Given the description of an element on the screen output the (x, y) to click on. 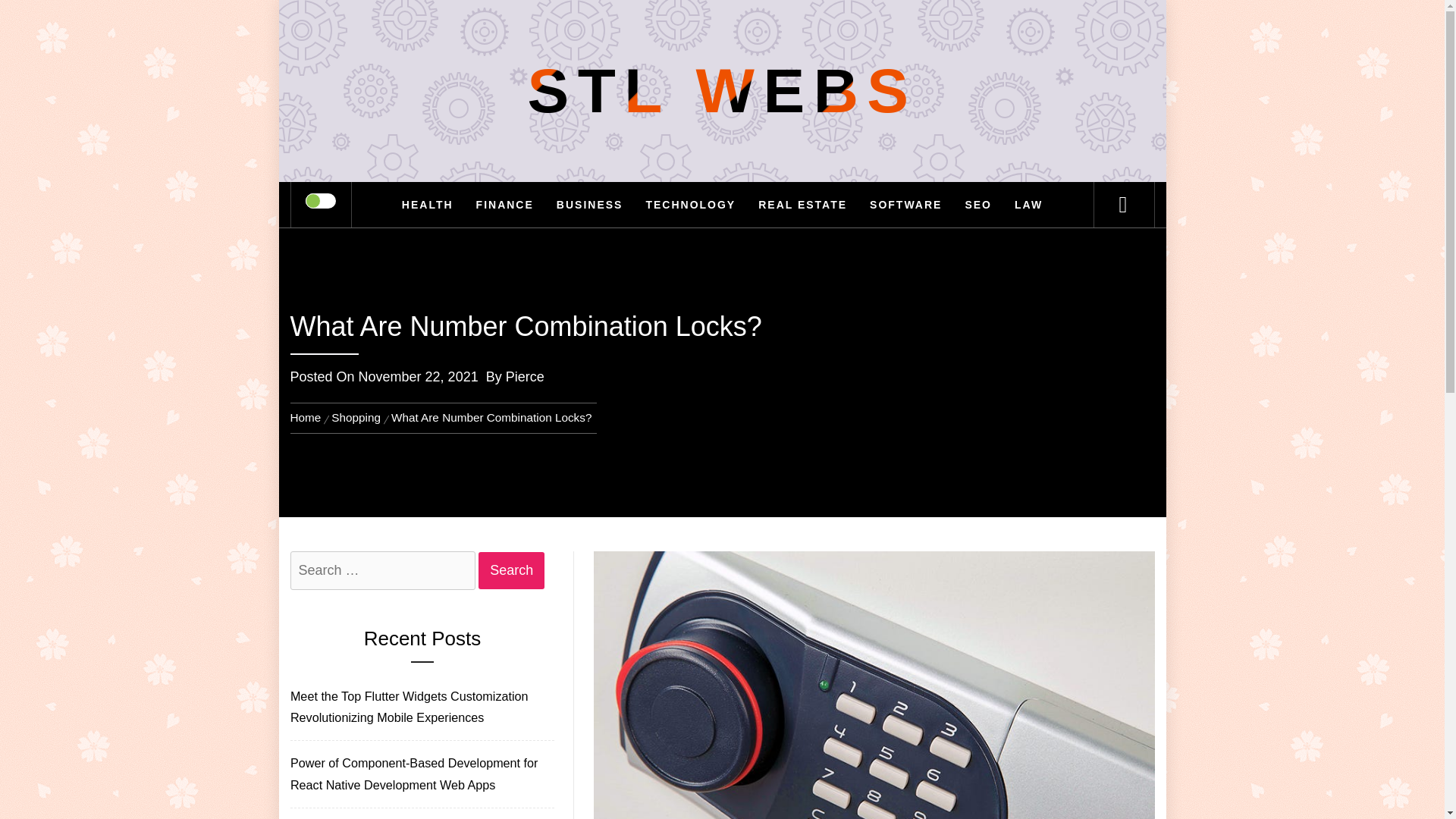
LAW (1028, 204)
BUSINESS (589, 204)
Search (511, 570)
REAL ESTATE (802, 204)
Pierce (524, 376)
TECHNOLOGY (689, 204)
Search (511, 570)
Shopping (355, 417)
Search (511, 570)
FINANCE (504, 204)
